Given the description of an element on the screen output the (x, y) to click on. 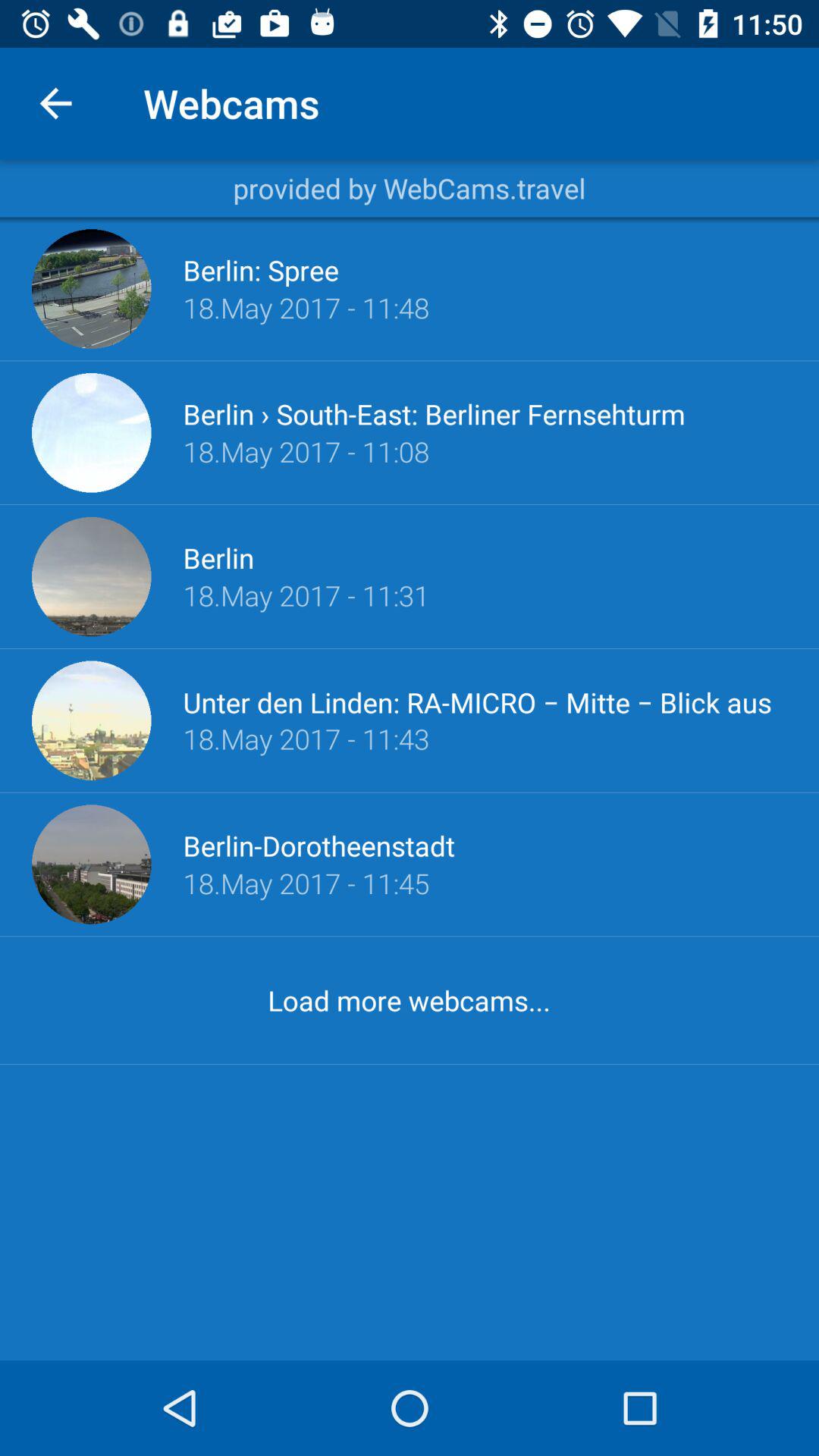
click item below 18 may 2017 icon (485, 701)
